Given the description of an element on the screen output the (x, y) to click on. 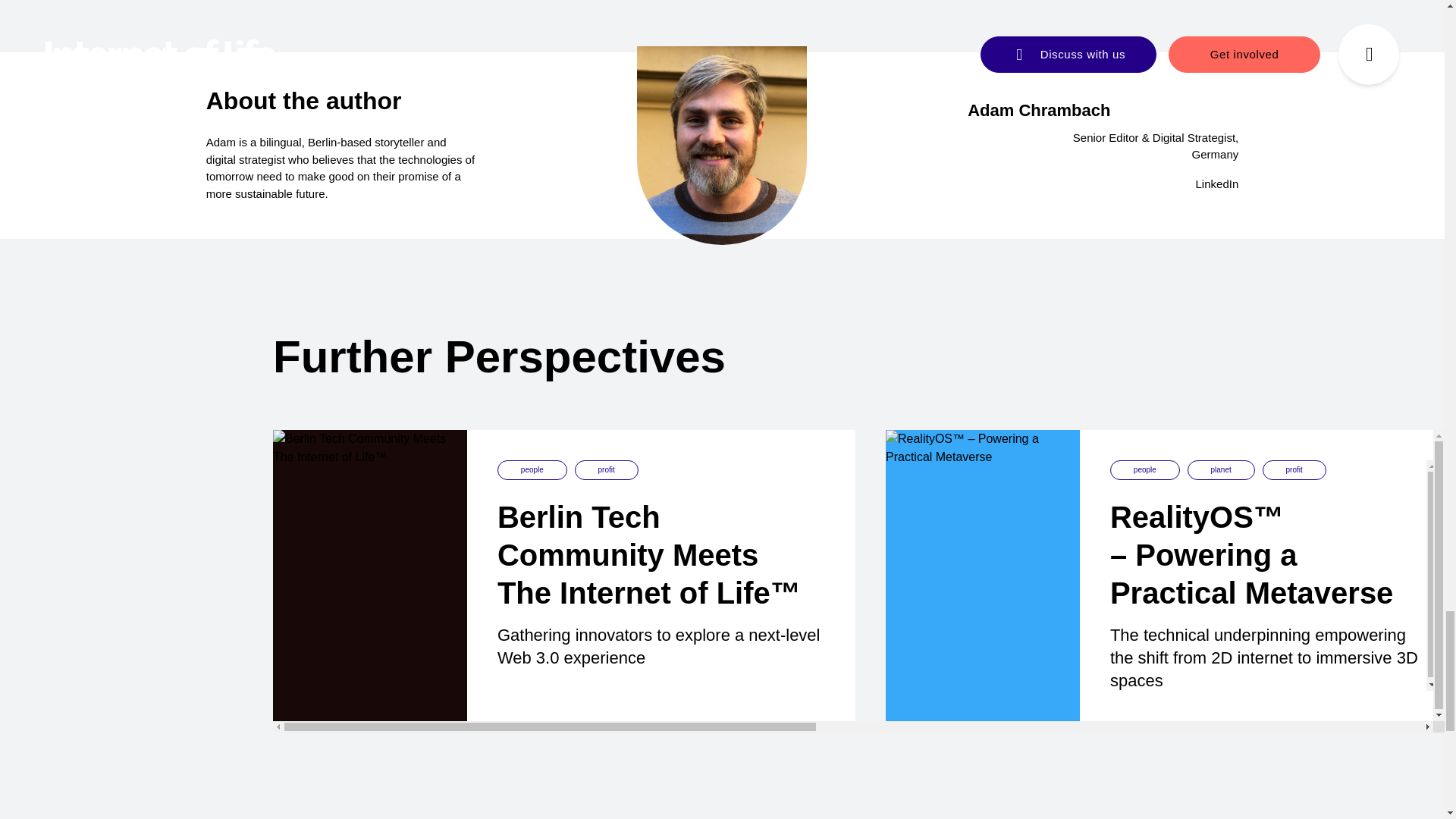
LinkedIn (1217, 183)
